Given the description of an element on the screen output the (x, y) to click on. 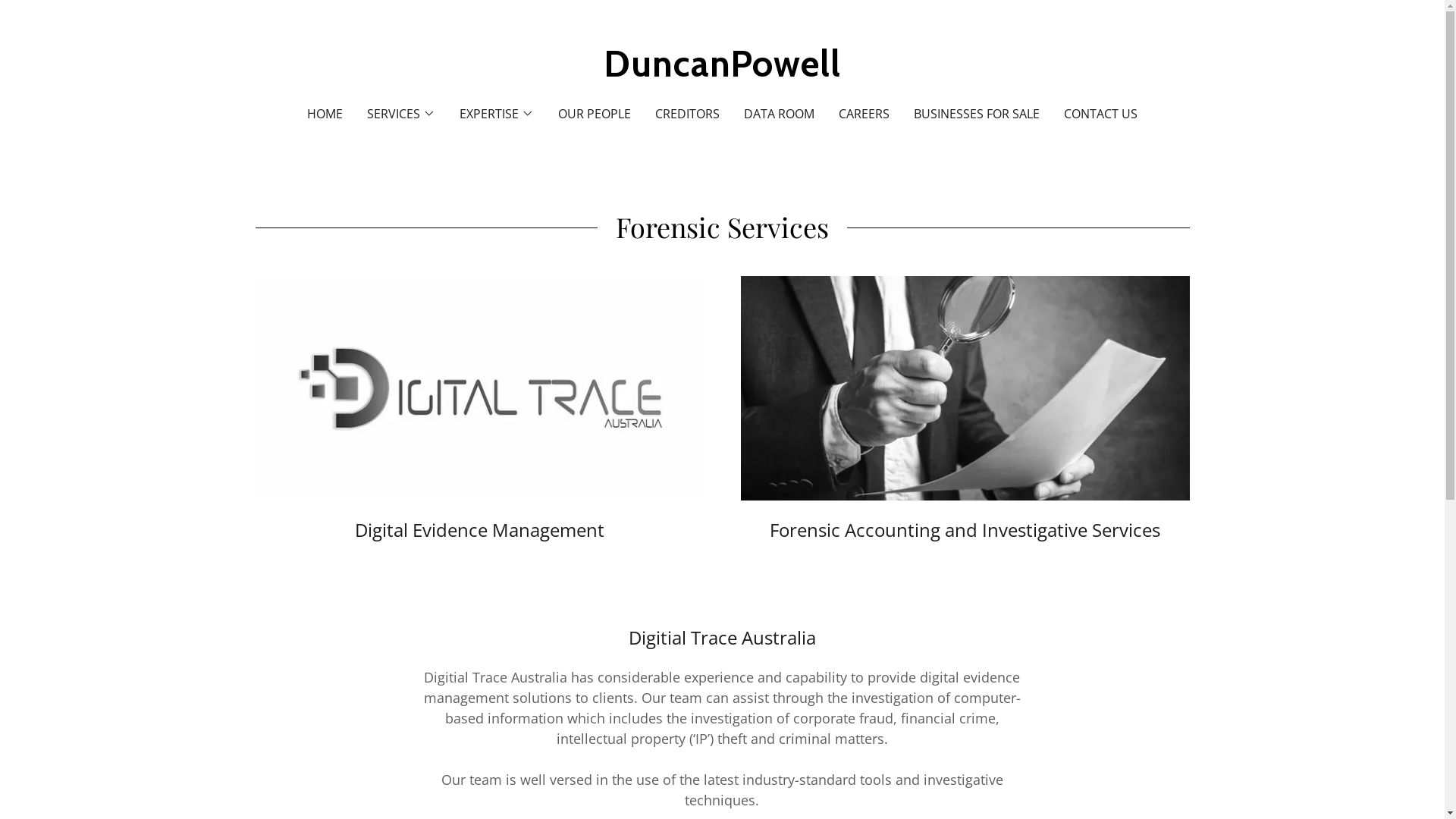
BUSINESSES FOR SALE Element type: text (976, 113)
SERVICES Element type: text (401, 113)
OUR PEOPLE Element type: text (594, 113)
EXPERTISE Element type: text (496, 113)
CAREERS Element type: text (864, 113)
CONTACT US Element type: text (1100, 113)
HOME Element type: text (324, 113)
DuncanPowell Element type: text (722, 71)
CREDITORS Element type: text (687, 113)
DATA ROOM Element type: text (779, 113)
